Given the description of an element on the screen output the (x, y) to click on. 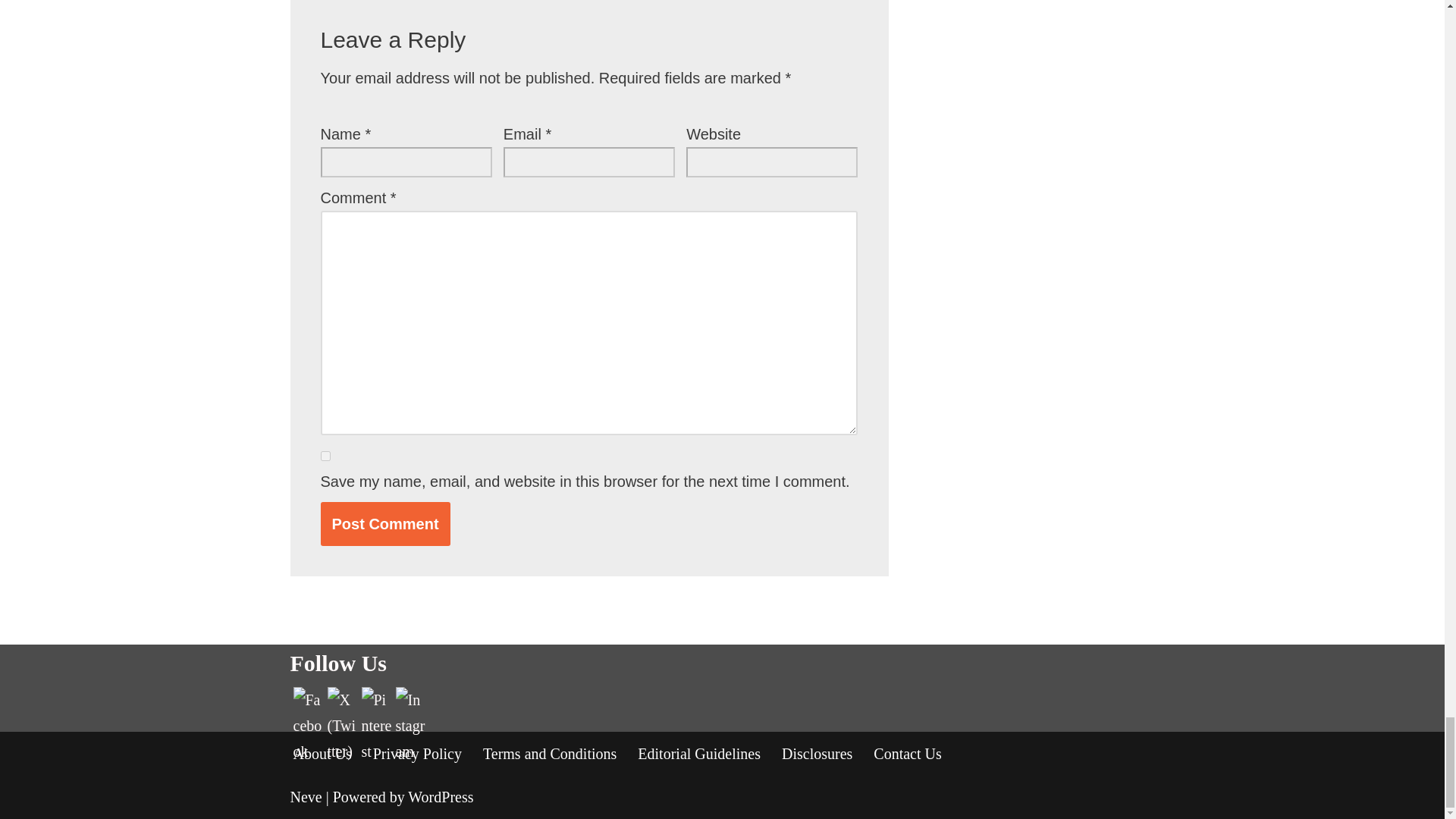
Post Comment (384, 523)
Post Comment (384, 523)
yes (325, 456)
Facebook (307, 724)
